Given the description of an element on the screen output the (x, y) to click on. 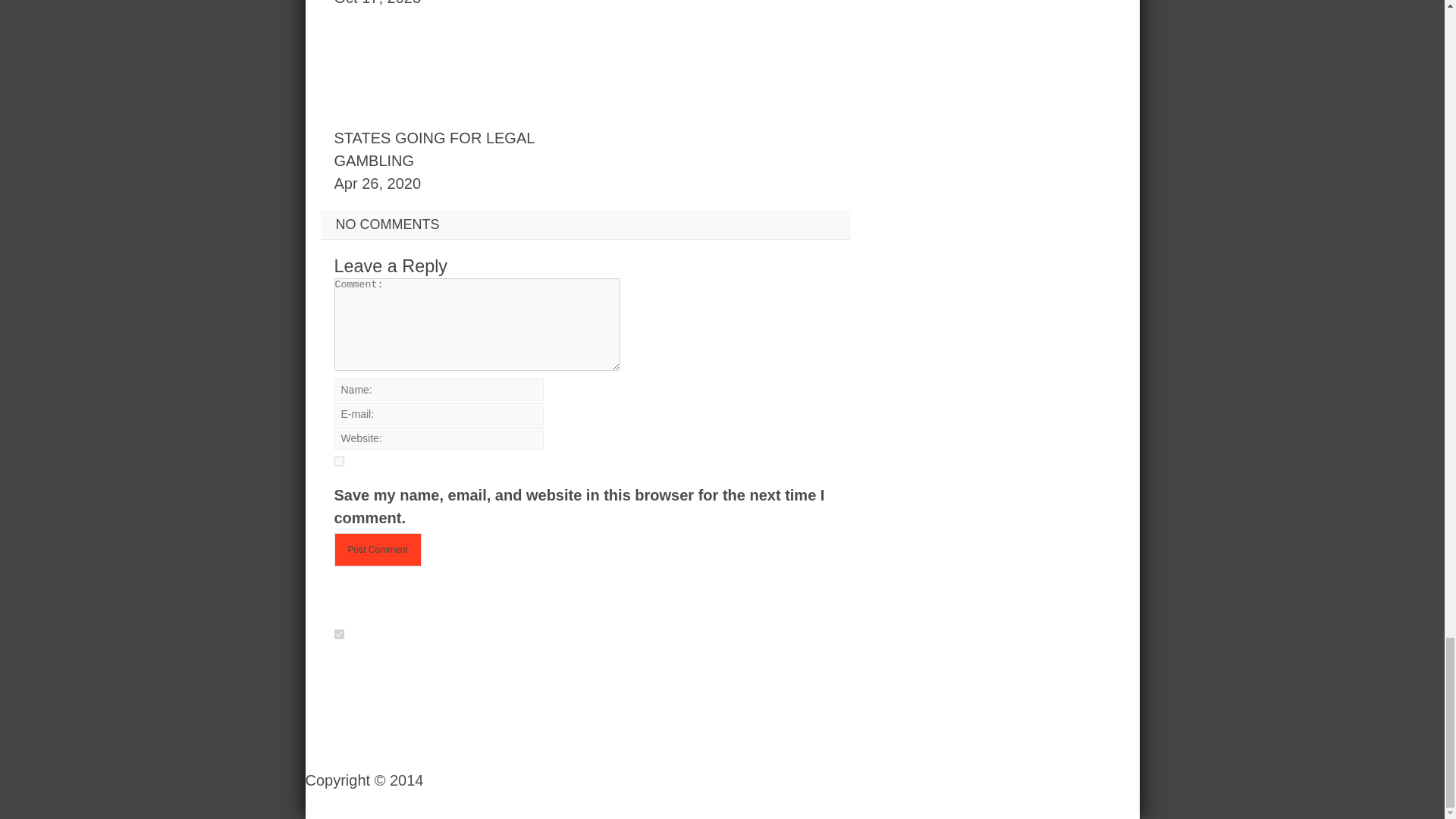
Post Comment (376, 549)
STATES GOING FOR LEGAL GAMBLING (433, 148)
on (338, 634)
yes (338, 461)
